Given the description of an element on the screen output the (x, y) to click on. 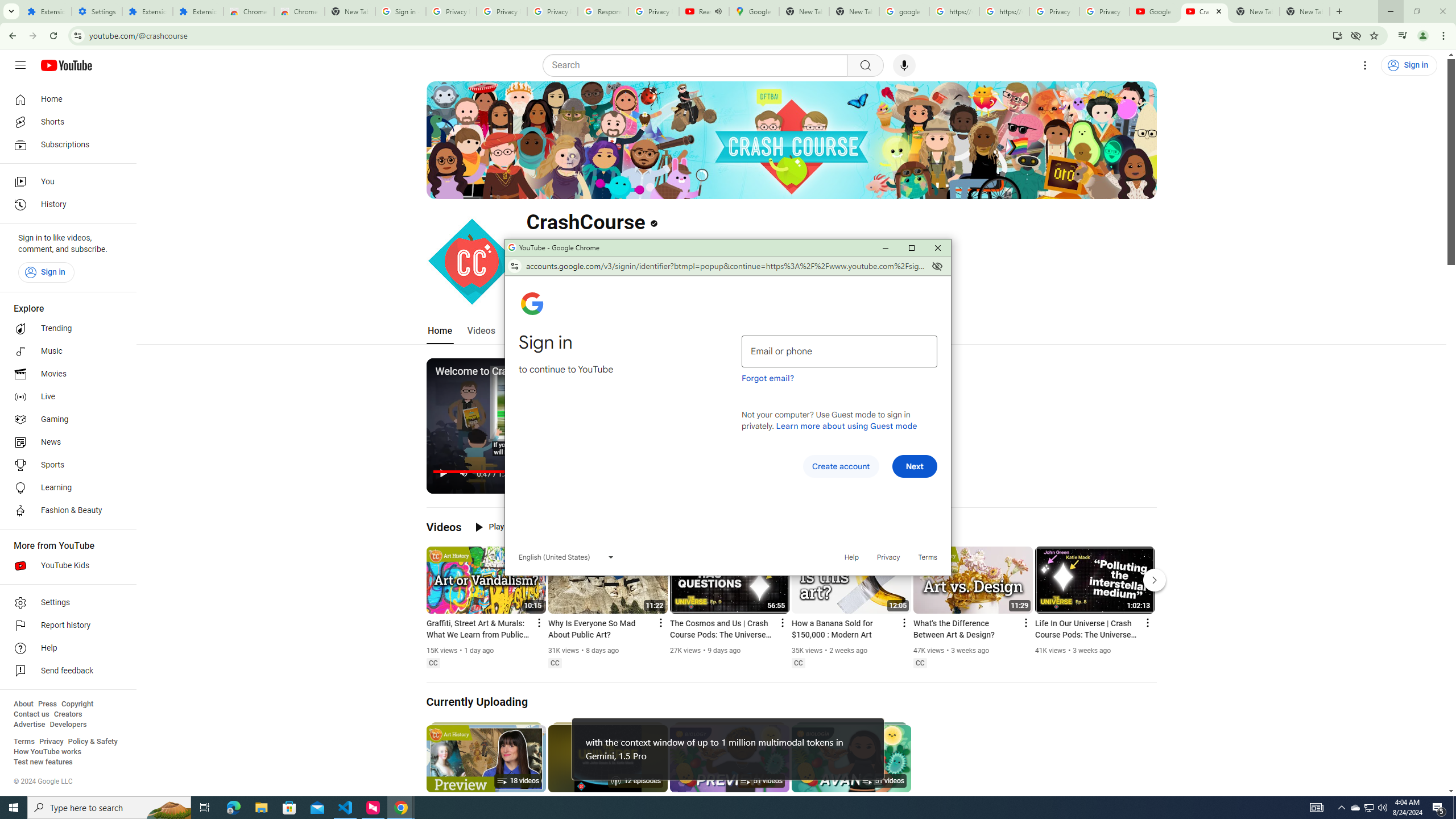
English (United States) (566, 556)
Shorts (64, 121)
Google Maps (753, 11)
Chrome Web Store (248, 11)
Learn more about using Guest mode (846, 425)
Contact us (31, 714)
Pause (k) (443, 472)
How YouTube works (47, 751)
Currently Uploading (477, 701)
